Given the description of an element on the screen output the (x, y) to click on. 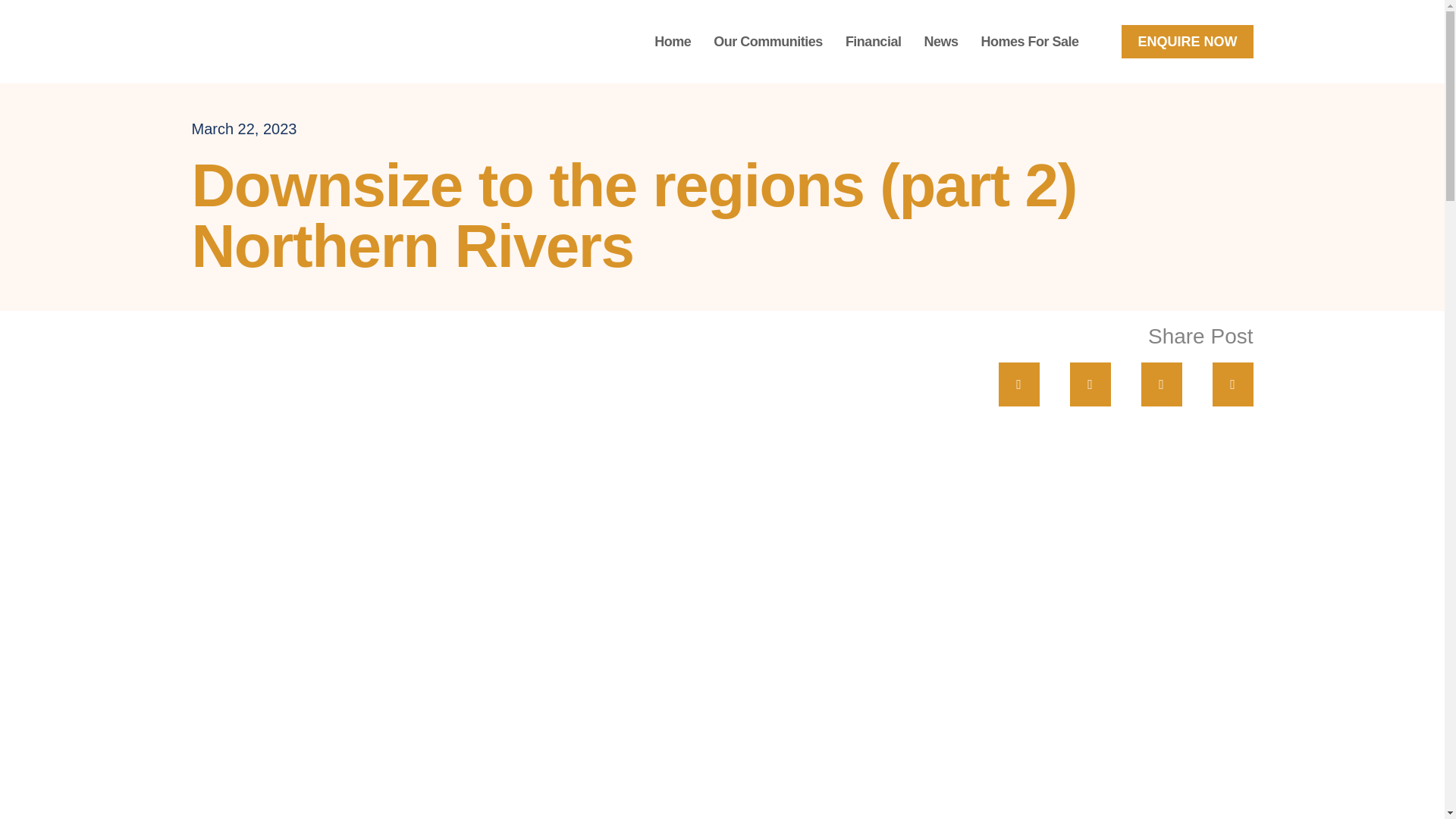
News (940, 41)
Financial (873, 41)
Skip to content (11, 31)
Home (672, 41)
March 22, 2023 (243, 128)
Homes For Sale (1029, 41)
ENQUIRE NOW (1186, 41)
Our Communities (767, 41)
